Given the description of an element on the screen output the (x, y) to click on. 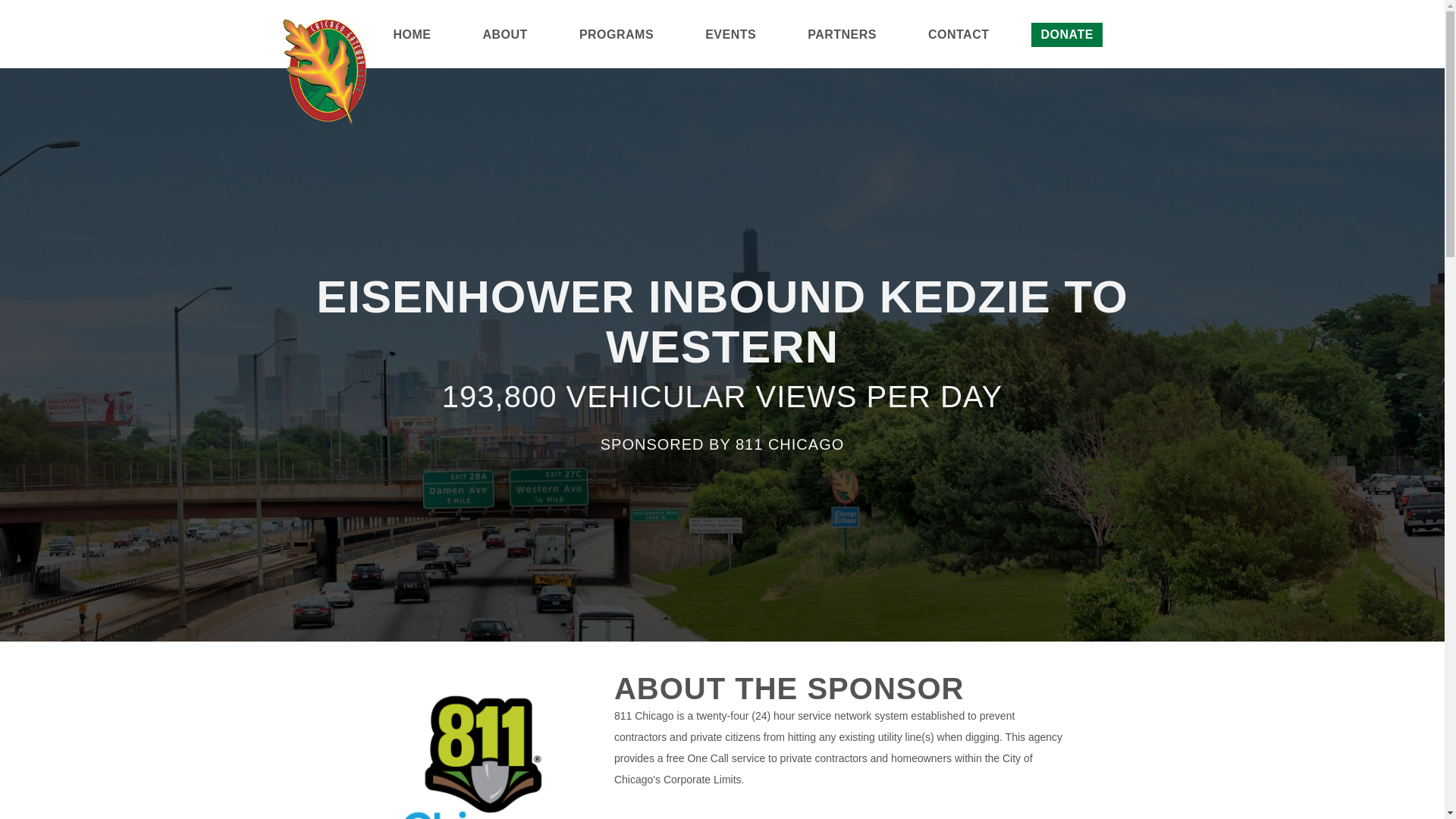
CONTACT (959, 49)
PARTNERS (841, 49)
EVENTS (730, 49)
ABOUT (505, 49)
Chicago Gateway Green (323, 71)
PROGRAMS (616, 49)
DONATE (1066, 49)
HOME (412, 49)
